Given the description of an element on the screen output the (x, y) to click on. 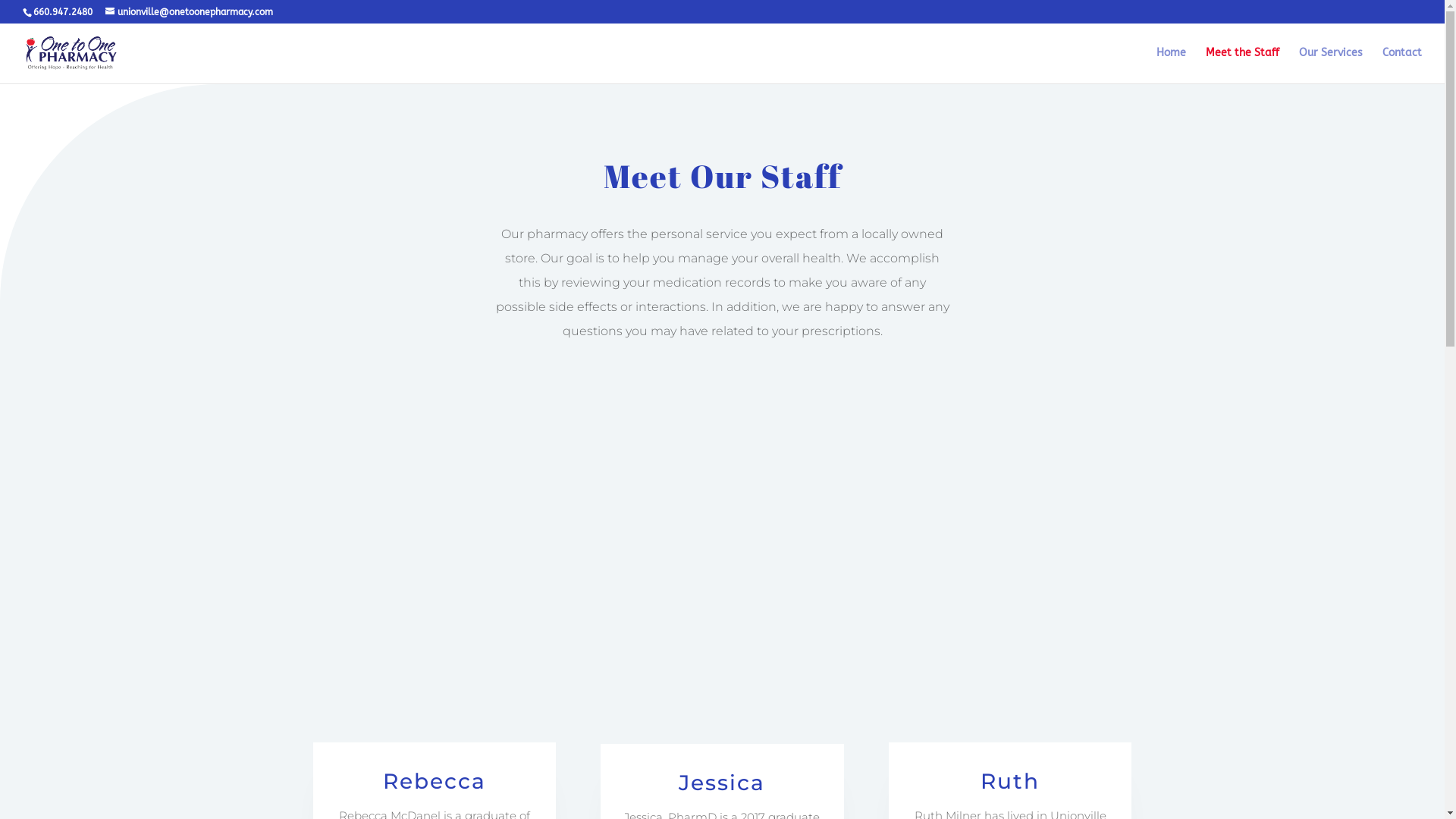
unionville@onetoonepharmacy.com Element type: text (189, 11)
Our Services Element type: text (1330, 65)
Contact Element type: text (1401, 65)
Meet the Staff Element type: text (1242, 65)
Home Element type: text (1171, 65)
